Given the description of an element on the screen output the (x, y) to click on. 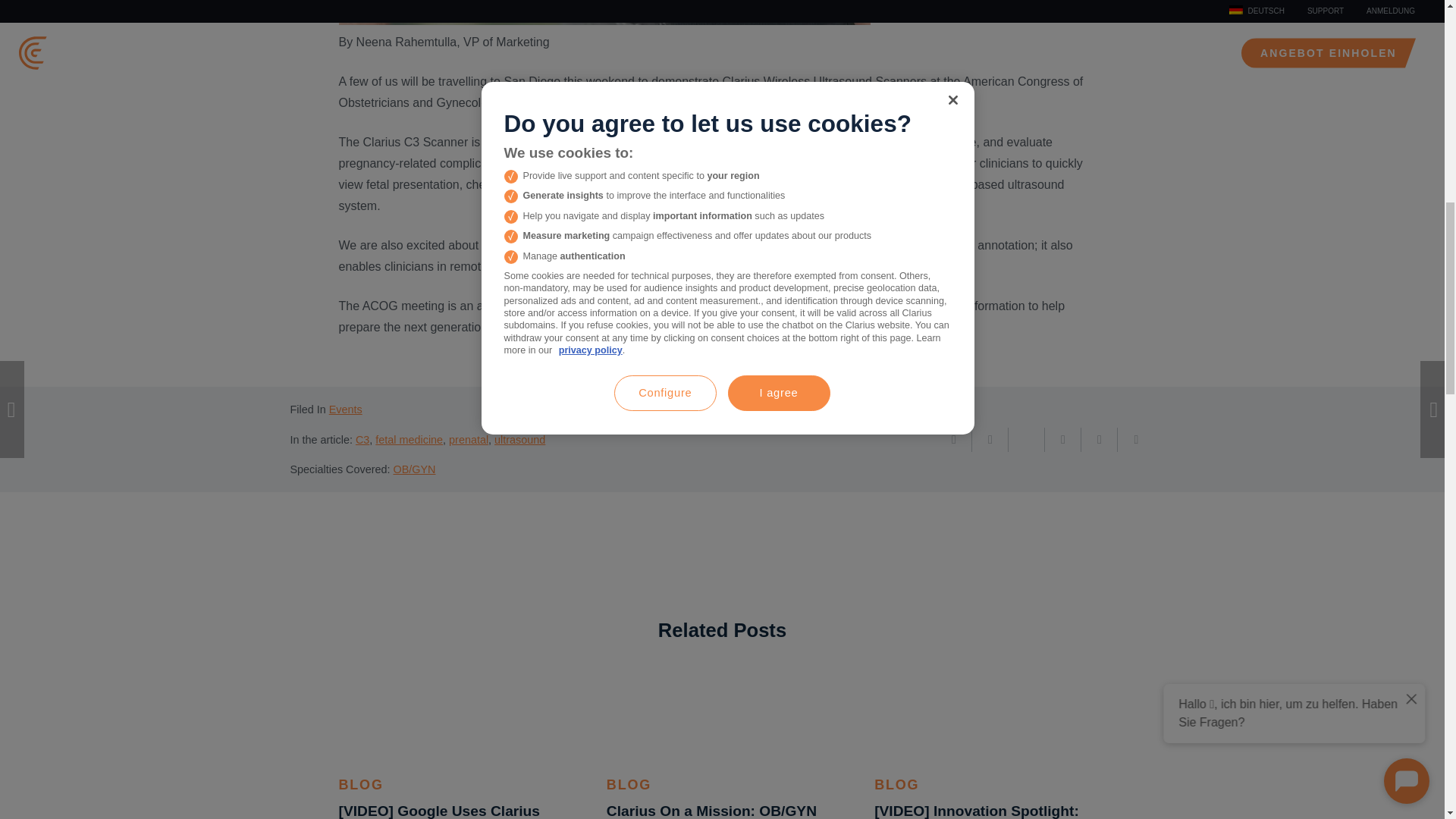
E-Mail senden (954, 439)
